Given the description of an element on the screen output the (x, y) to click on. 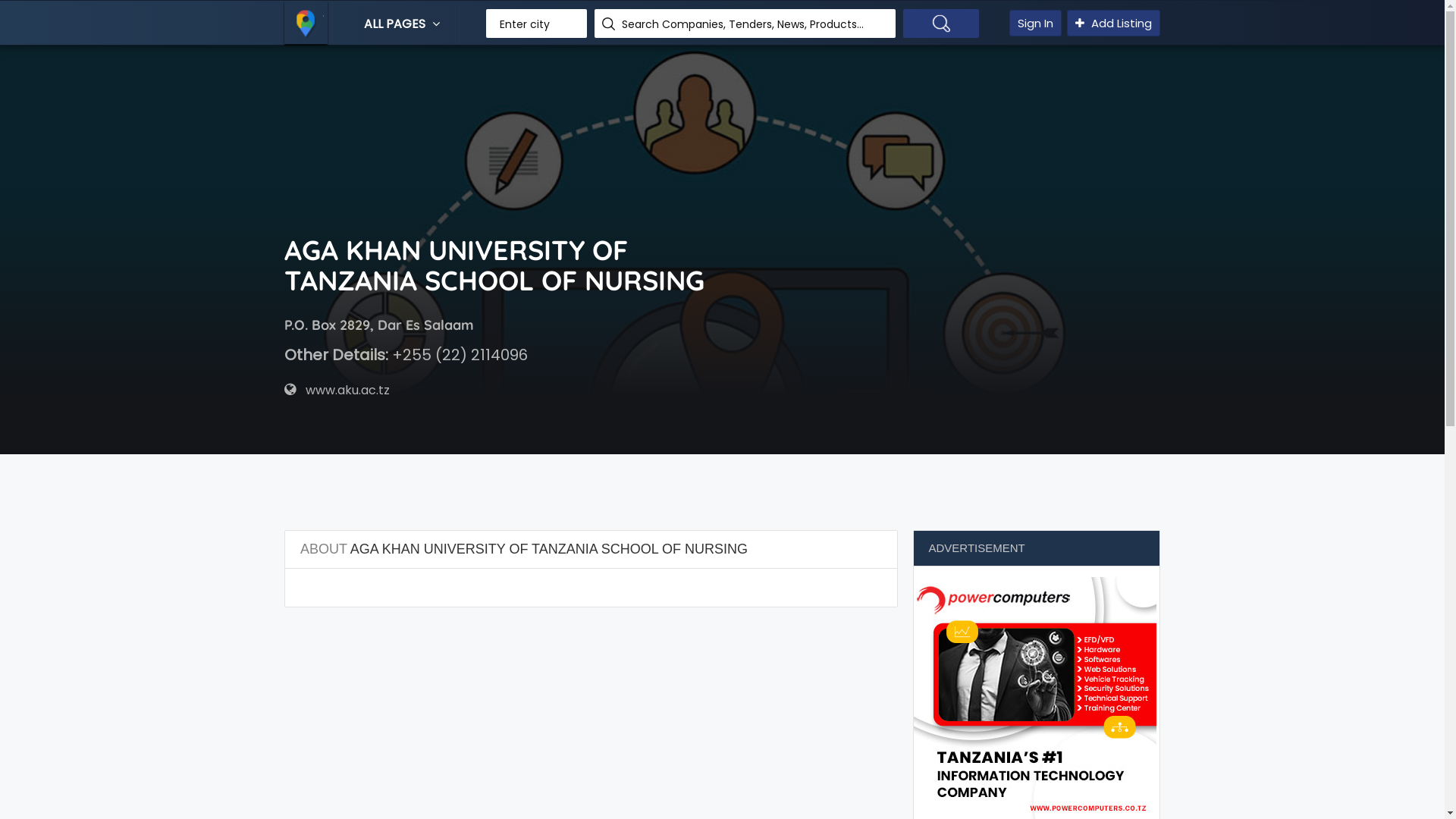
Submit Element type: text (20, 7)
Sign In Element type: text (1035, 22)
AGA KHAN UNIVERSITY OF TANZANIA SCHOOL OF NURSING Element type: text (503, 270)
Add Listing Element type: text (1113, 22)
ALL PAGES Element type: text (403, 23)
